Given the description of an element on the screen output the (x, y) to click on. 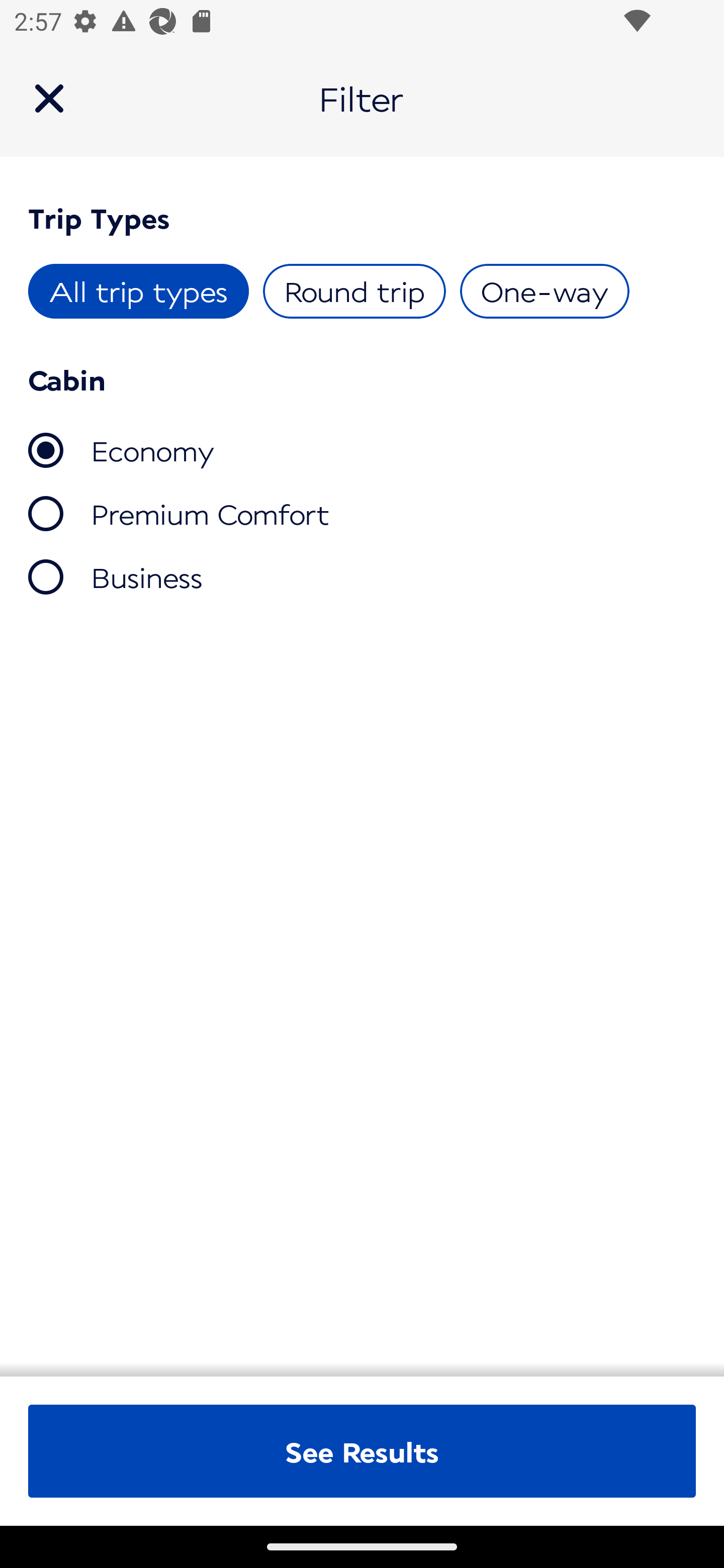
All trip types (138, 291)
Round trip (353, 291)
One-way (544, 291)
See Results (361, 1450)
